Given the description of an element on the screen output the (x, y) to click on. 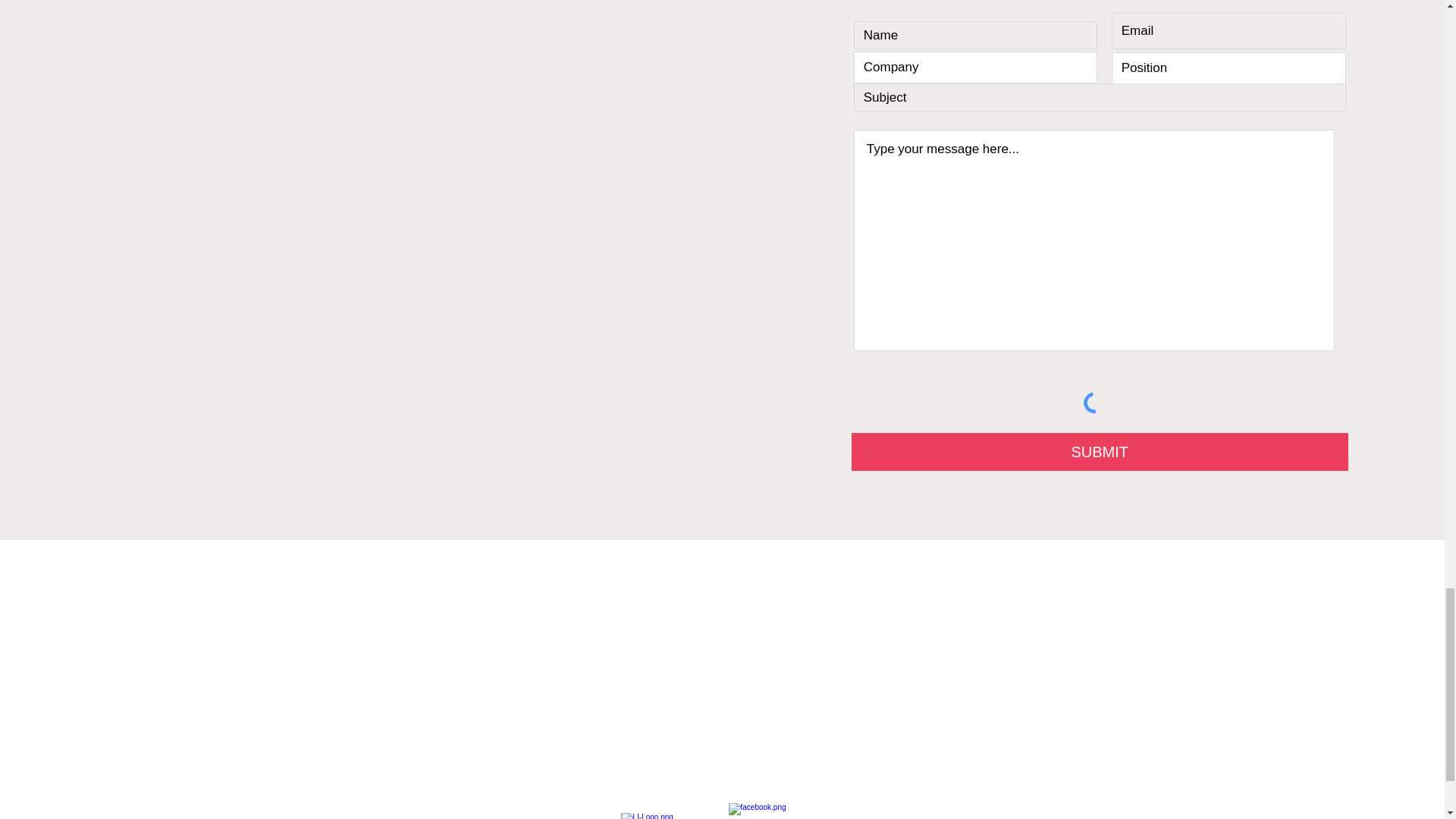
SUBMIT (1099, 451)
